Given the description of an element on the screen output the (x, y) to click on. 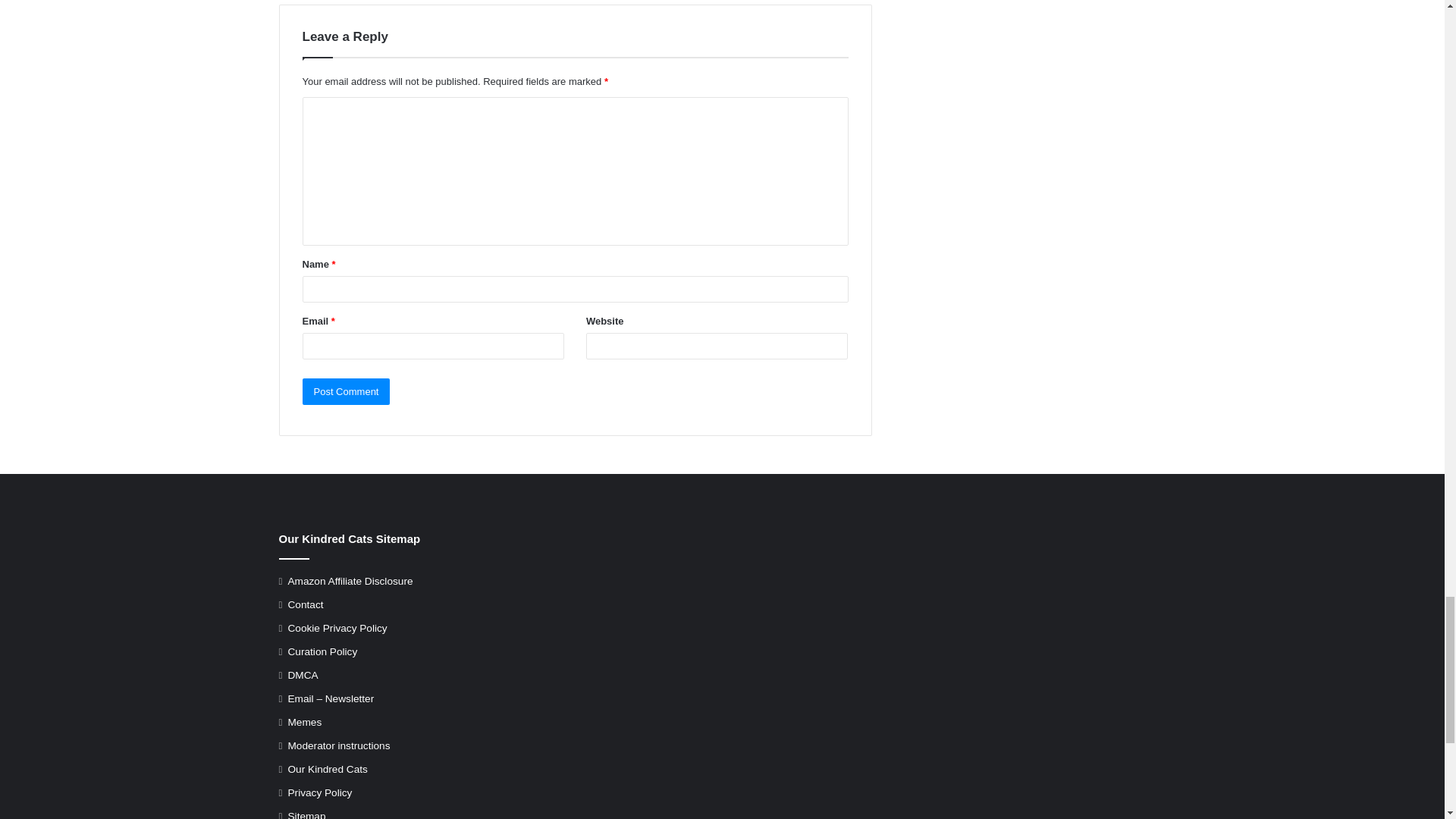
Post Comment (345, 391)
